Given the description of an element on the screen output the (x, y) to click on. 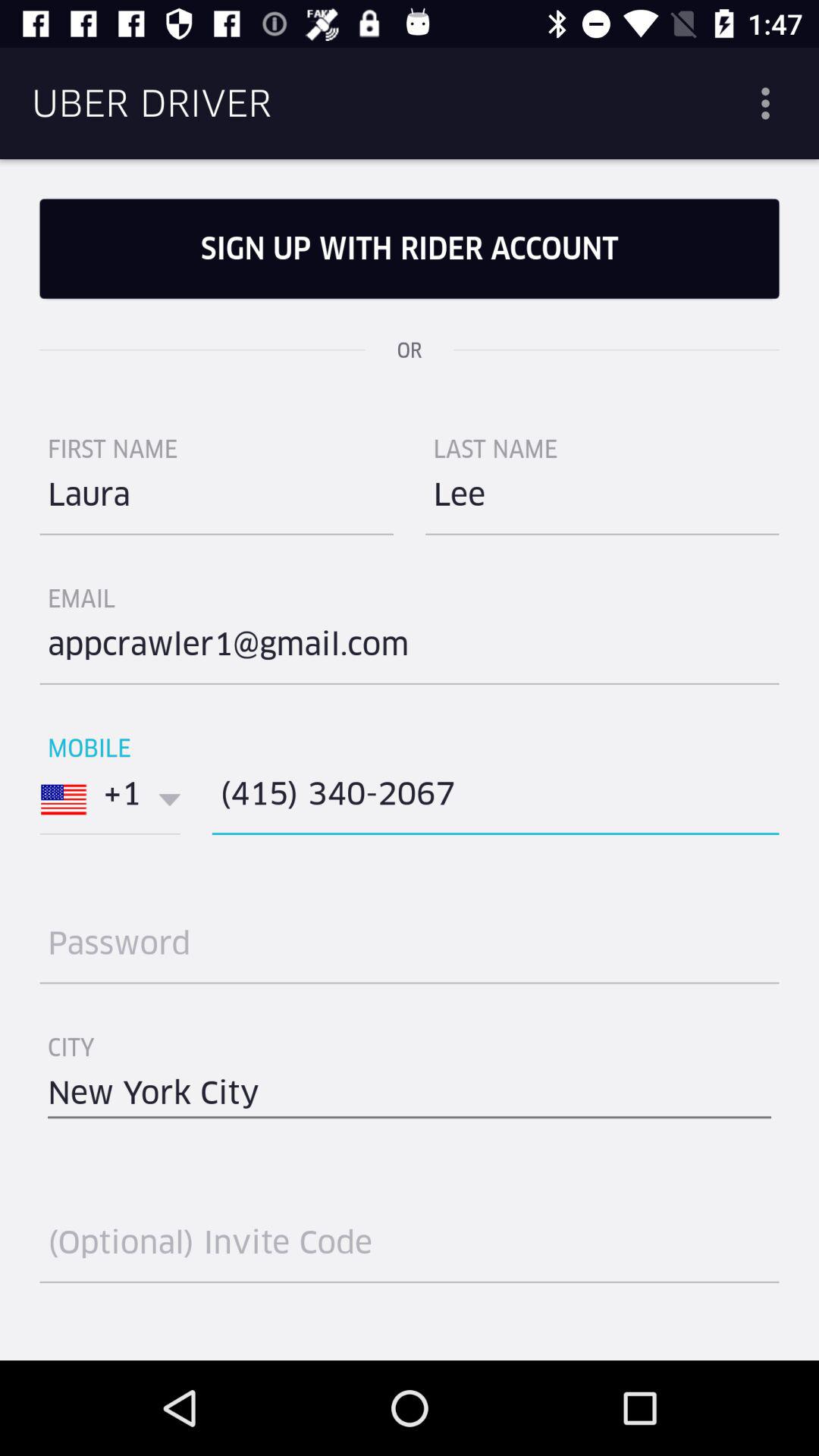
type here (409, 1248)
